Given the description of an element on the screen output the (x, y) to click on. 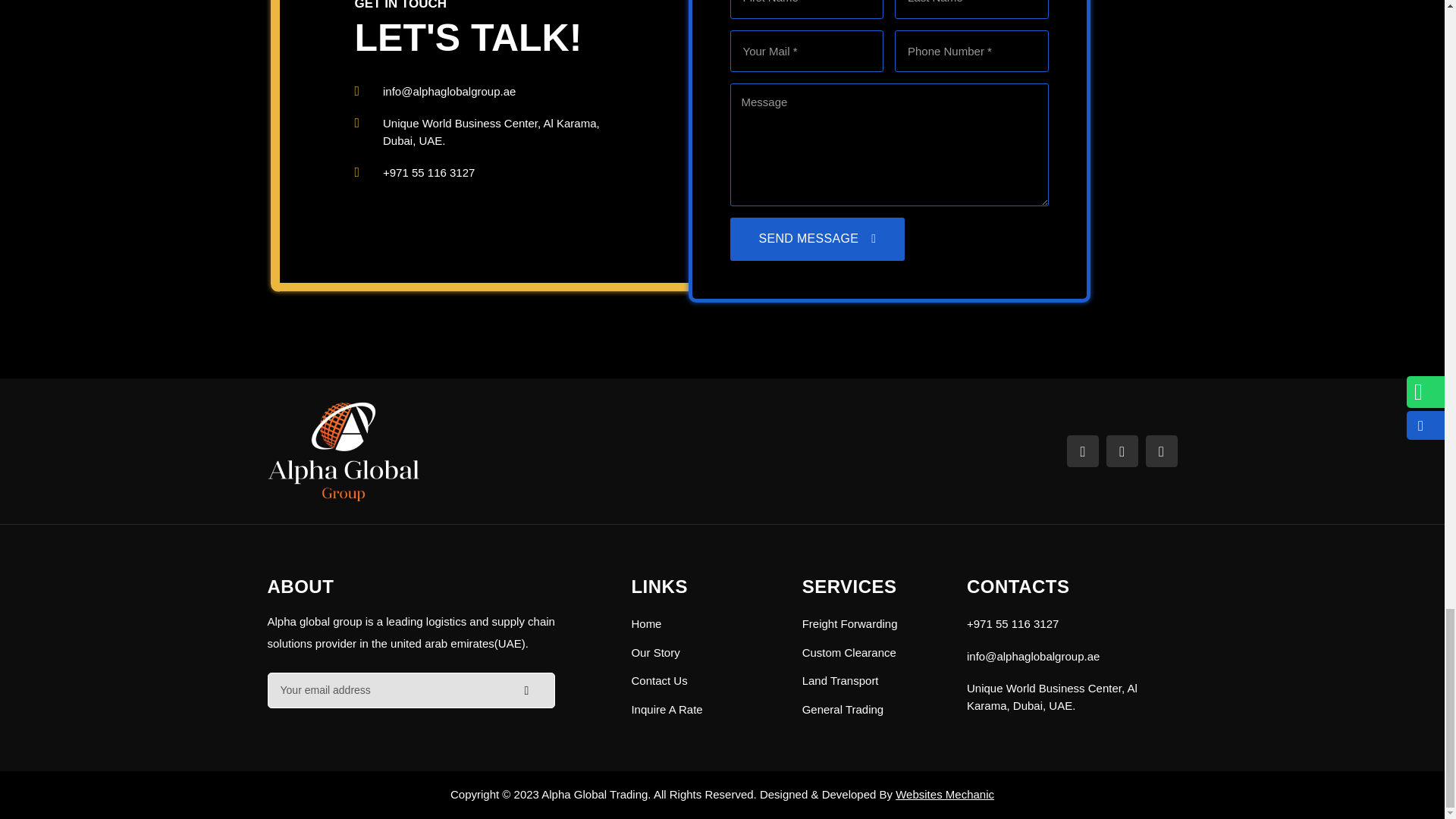
SEND MESSAGE (816, 239)
Home (704, 624)
Our Story (704, 652)
